Given the description of an element on the screen output the (x, y) to click on. 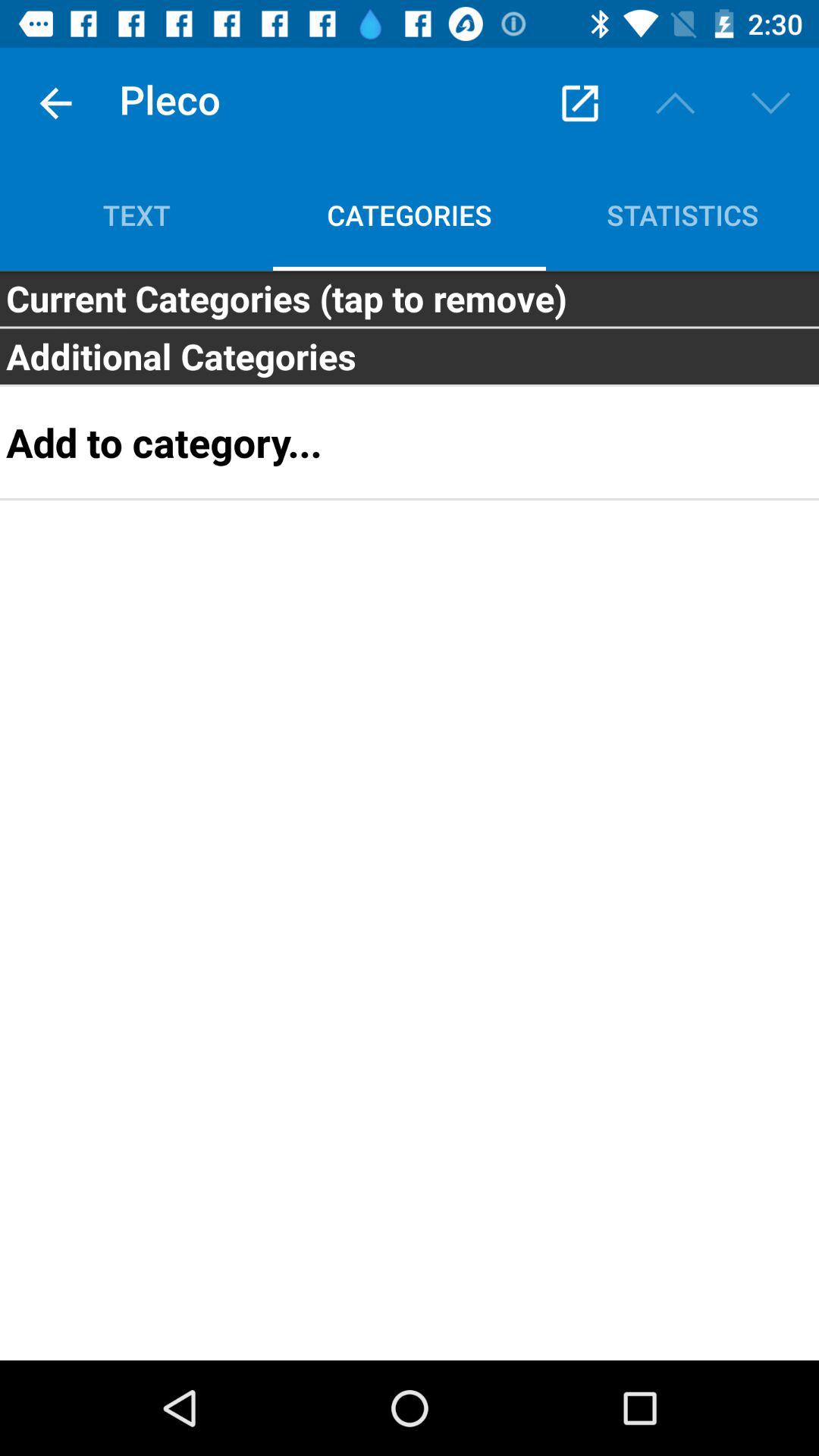
click text icon (136, 214)
